Given the description of an element on the screen output the (x, y) to click on. 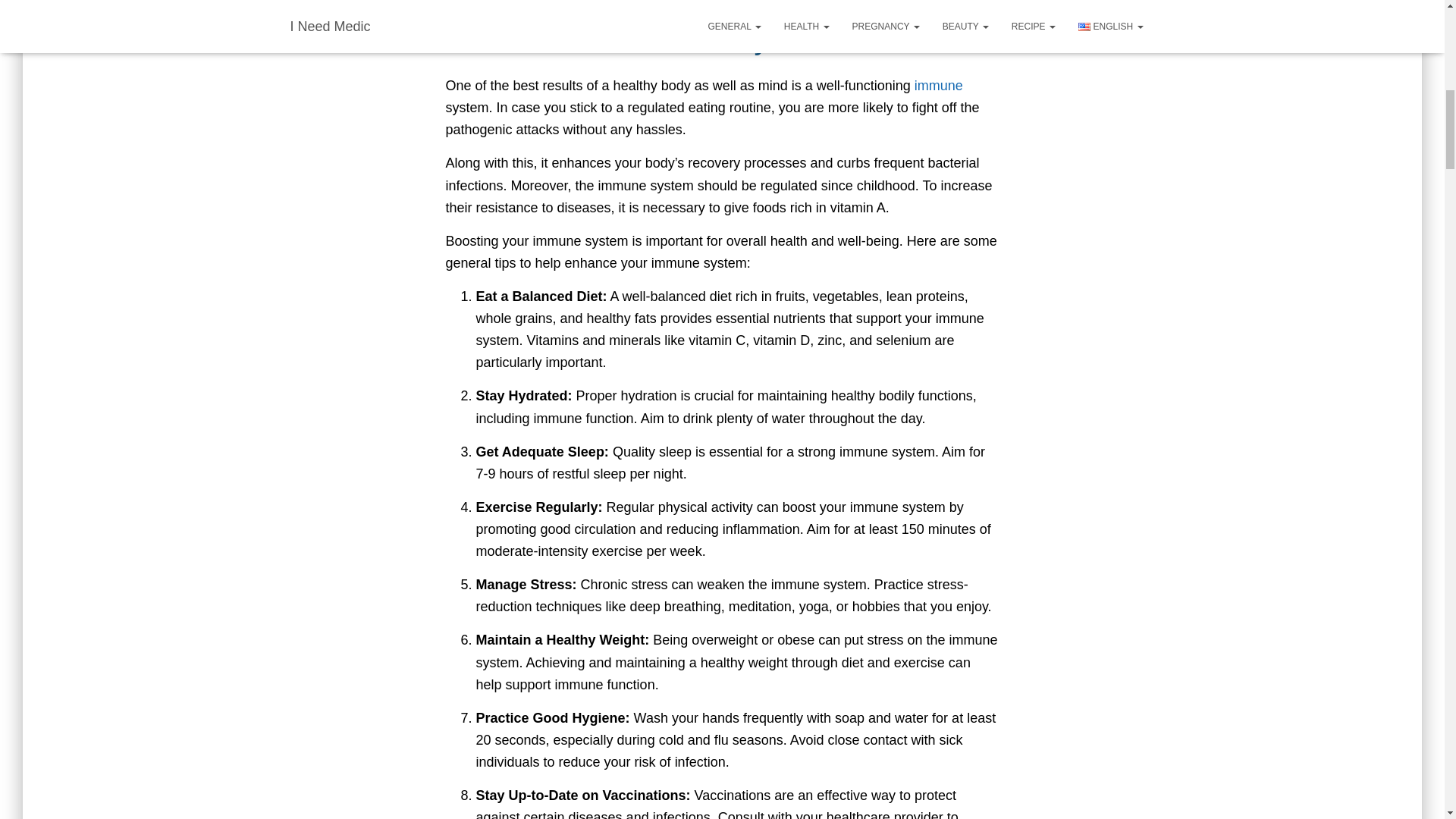
immune (938, 85)
